Given the description of an element on the screen output the (x, y) to click on. 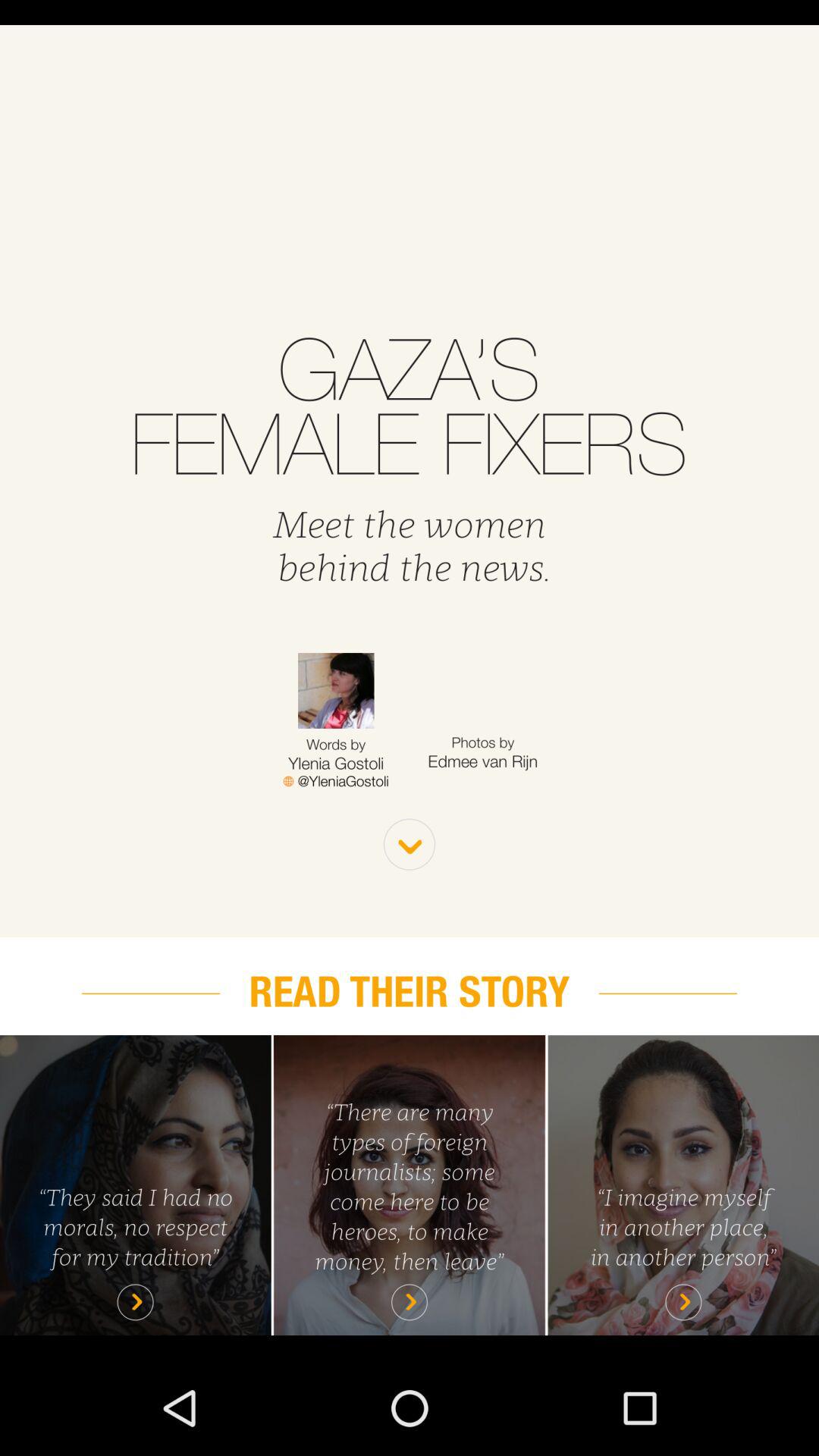
choose this story (683, 1184)
